Given the description of an element on the screen output the (x, y) to click on. 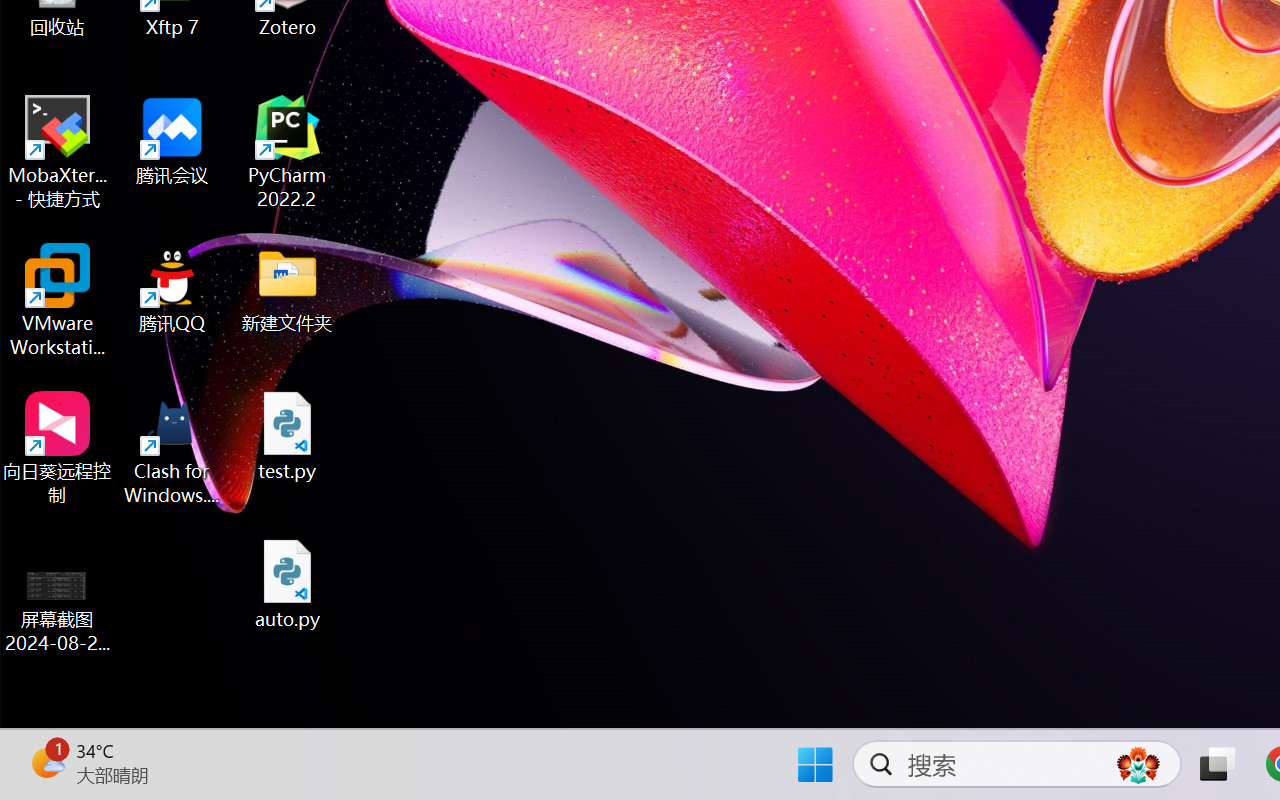
VMware Workstation Pro (57, 300)
